Given the description of an element on the screen output the (x, y) to click on. 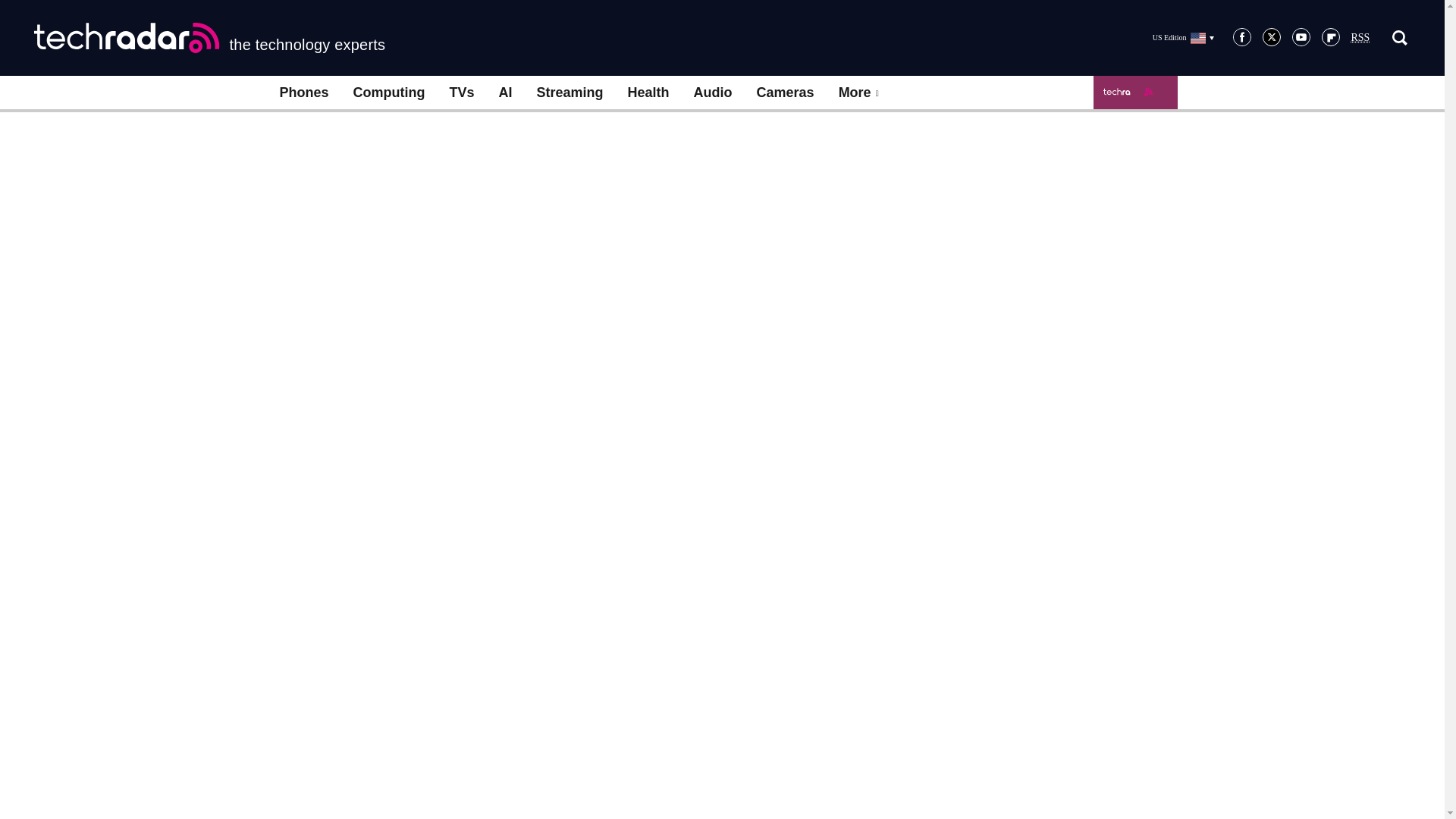
Phones (303, 92)
AI (505, 92)
US Edition (1182, 37)
Cameras (785, 92)
Really Simple Syndication (1360, 37)
Computing (389, 92)
Audio (712, 92)
the technology experts (209, 38)
RSS (1360, 38)
Streaming (569, 92)
Health (648, 92)
TVs (461, 92)
